Given the description of an element on the screen output the (x, y) to click on. 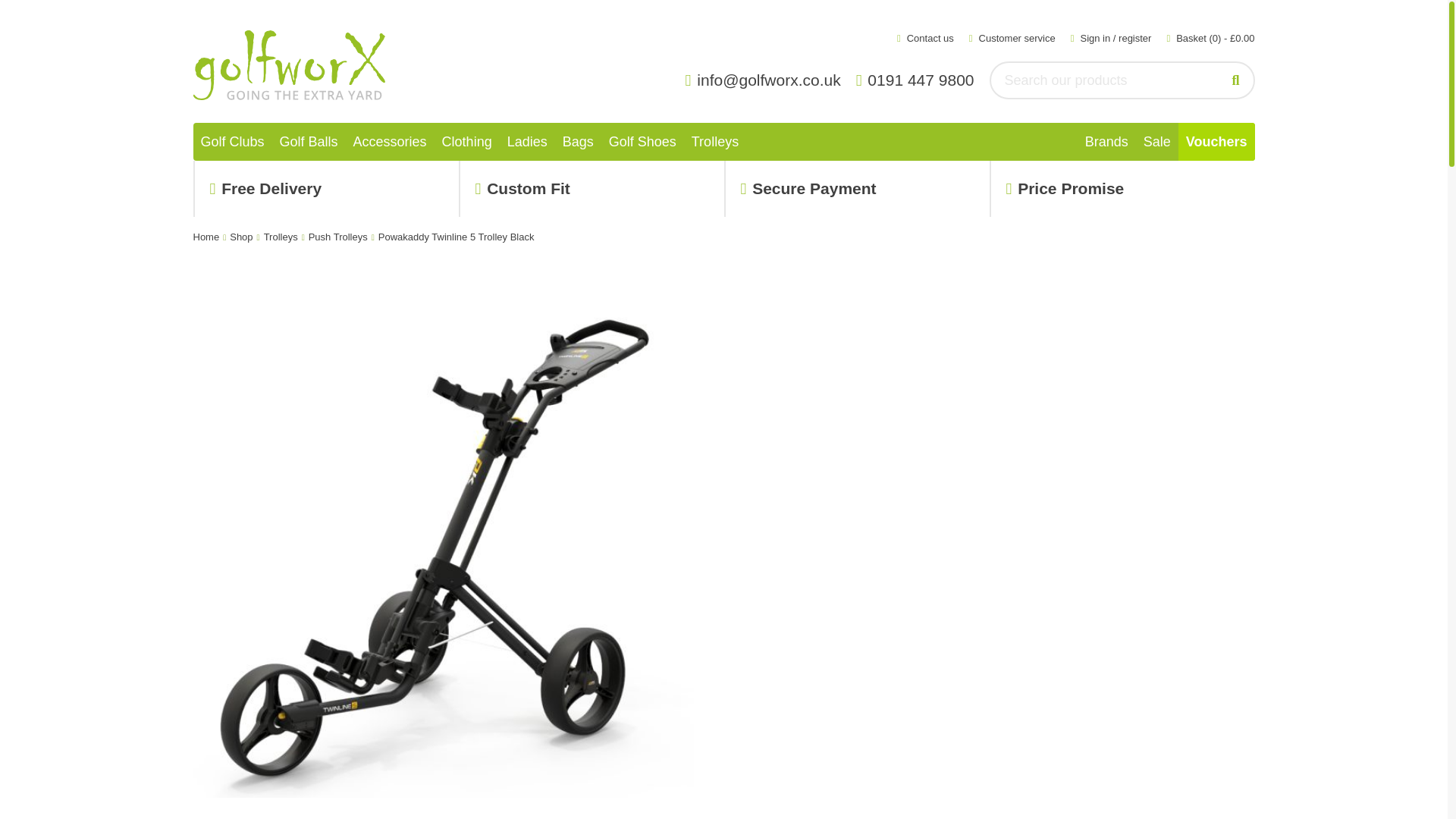
Golf Clubs (231, 141)
Customer service (1011, 37)
0191 447 9800 (919, 80)
Contact us (924, 37)
Accessories (389, 141)
Golf Balls (309, 141)
